Given the description of an element on the screen output the (x, y) to click on. 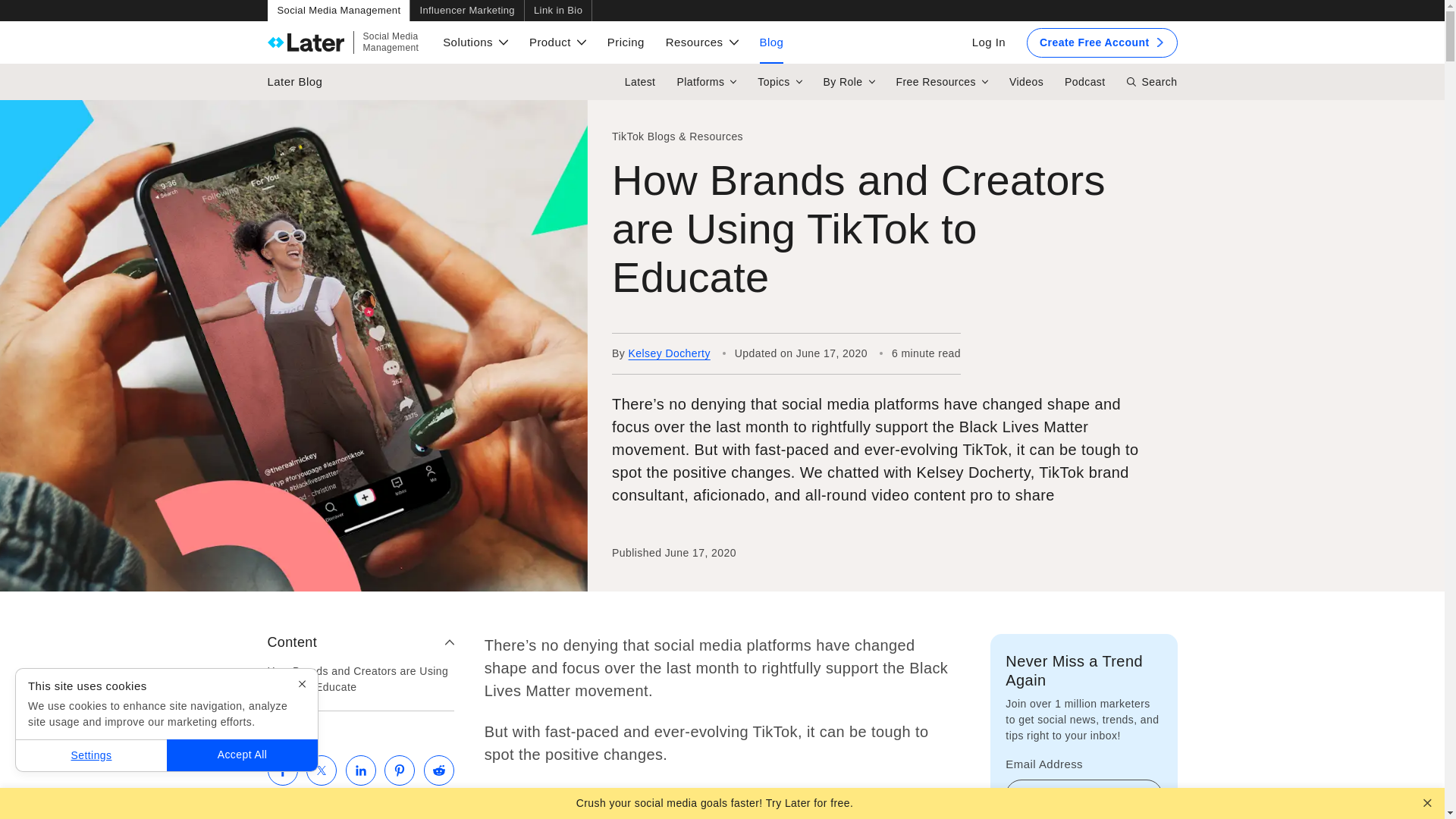
Solutions (474, 42)
Social Media Management (337, 10)
Resources (701, 42)
Pricing (625, 42)
Influencer Marketing (342, 42)
Product (466, 10)
Link in Bio (557, 42)
